Given the description of an element on the screen output the (x, y) to click on. 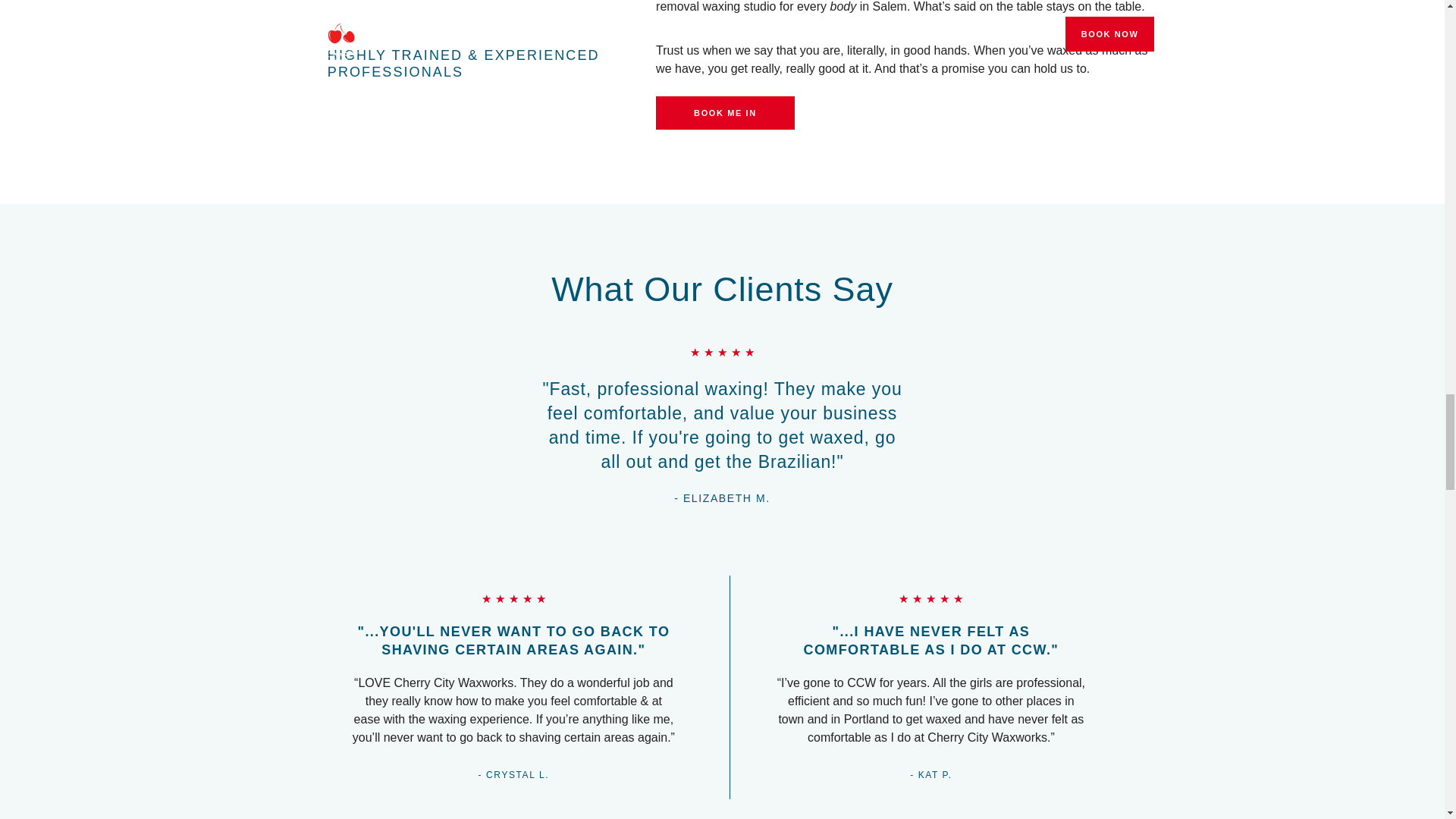
BOOK ME IN (725, 112)
